Given the description of an element on the screen output the (x, y) to click on. 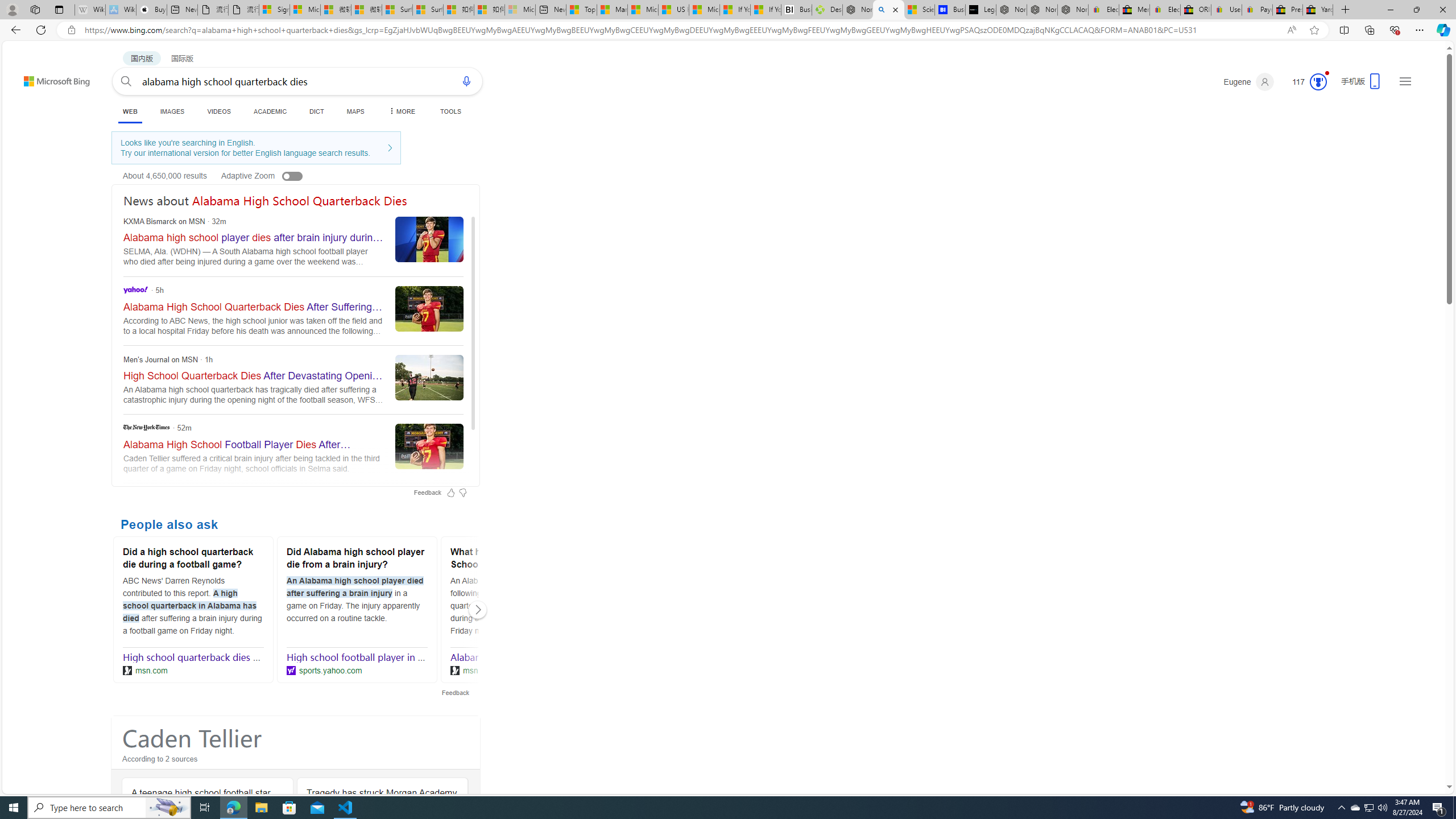
Dropdown Menu (400, 111)
Buy iPad - Apple (151, 9)
AutomationID: mfa_root (1406, 752)
Eugene (1248, 81)
Press Room - eBay Inc. (1287, 9)
